Given the description of an element on the screen output the (x, y) to click on. 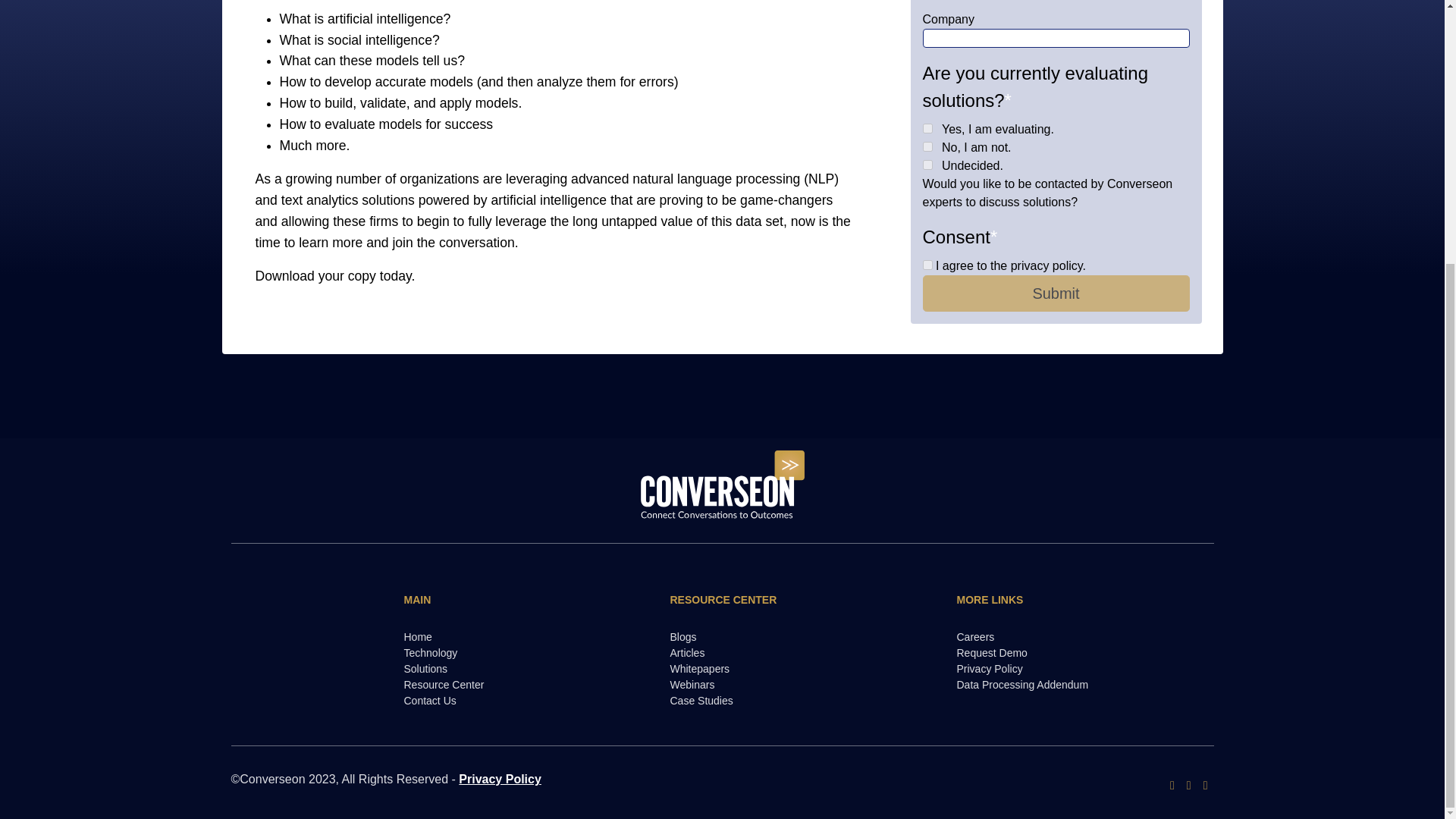
MORE LINKS (1061, 600)
Technology (507, 652)
Main (507, 600)
MAIN (507, 600)
Case Studies (774, 700)
Webinars (774, 684)
No, I am not. (928, 146)
Whitepapers (774, 668)
Contact Us (507, 700)
Submit (1056, 293)
